Given the description of an element on the screen output the (x, y) to click on. 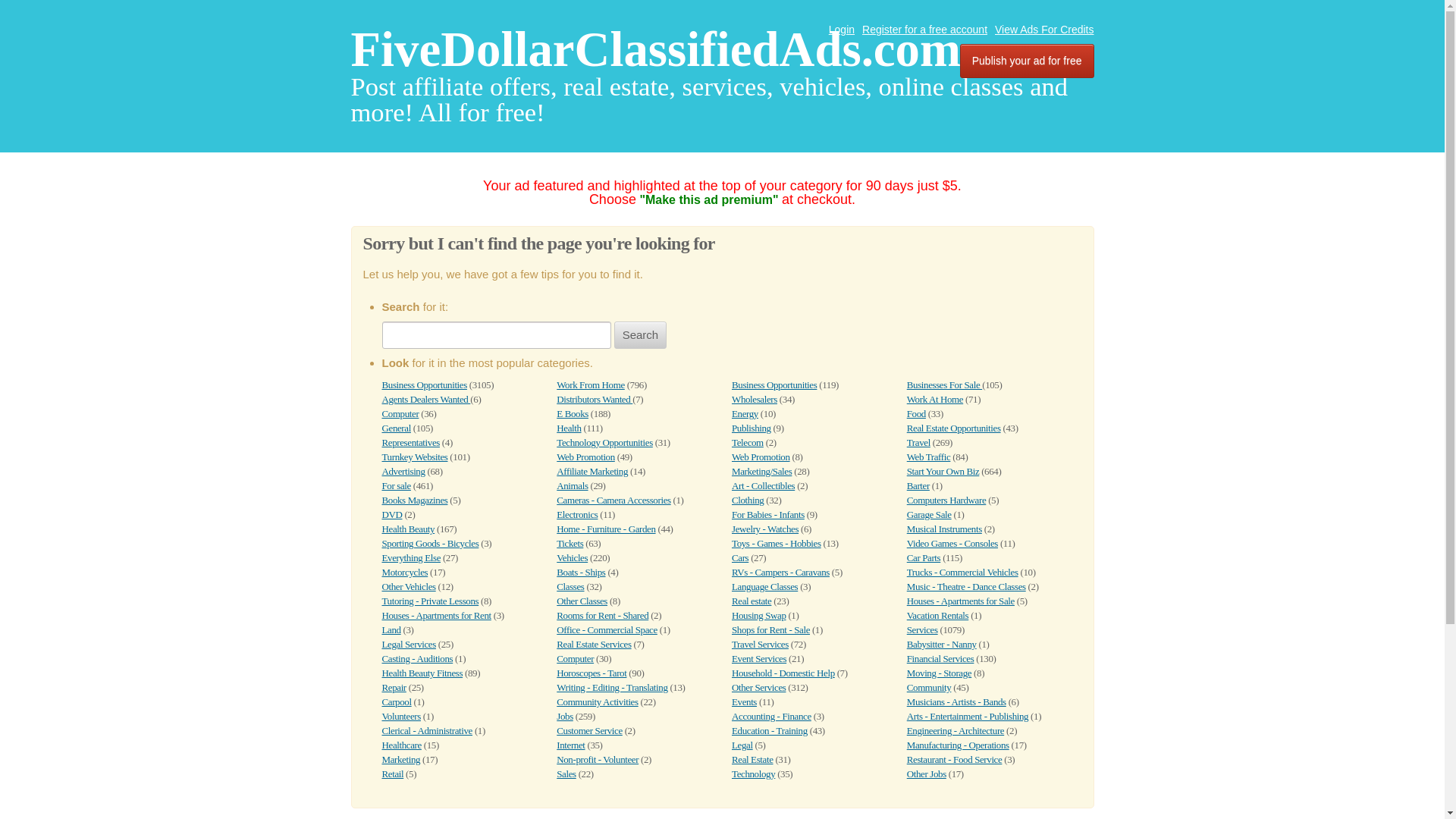
Register for a free account (924, 29)
Work At Home (934, 398)
Animals (572, 485)
Art - Collectibles (763, 485)
Wholesalers (754, 398)
Representatives (410, 441)
Agents Dealers Wanted (425, 398)
FiveDollarClassifiedAds.com (655, 49)
Food (916, 413)
Web Traffic (928, 456)
